Given the description of an element on the screen output the (x, y) to click on. 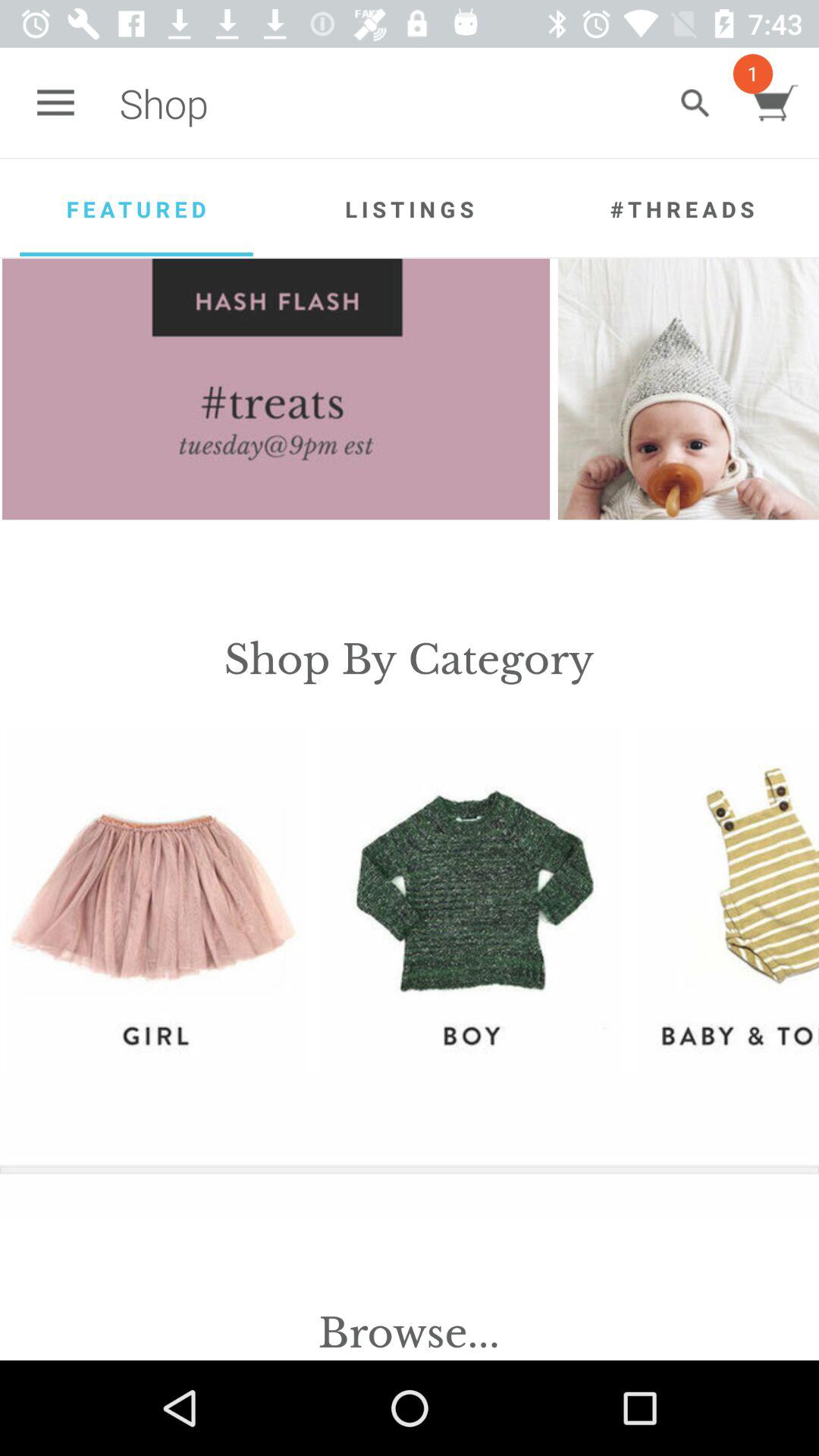
open link to boys clouths (469, 899)
